Given the description of an element on the screen output the (x, y) to click on. 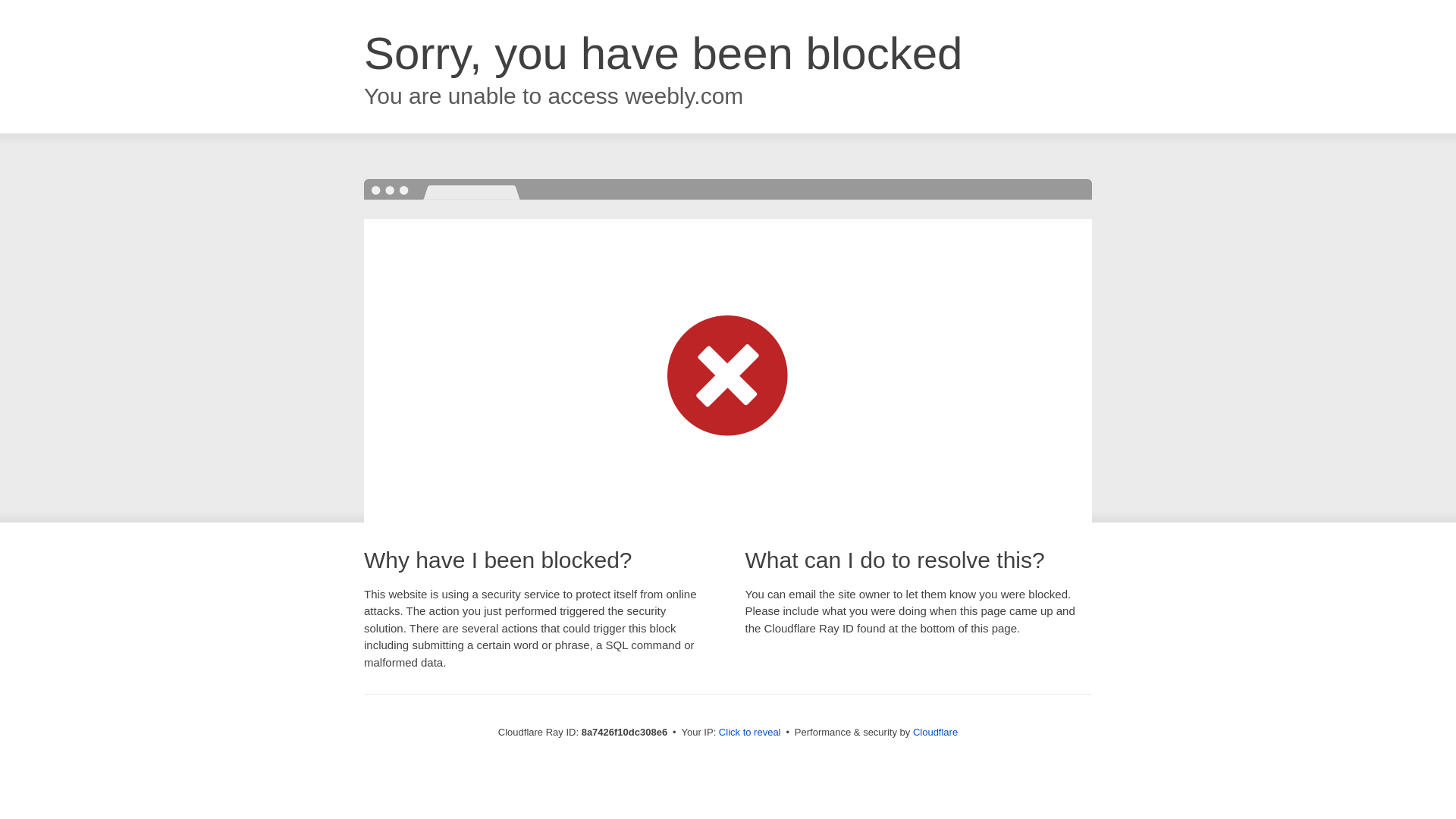
Click to reveal (749, 732)
Cloudflare (935, 731)
